Given the description of an element on the screen output the (x, y) to click on. 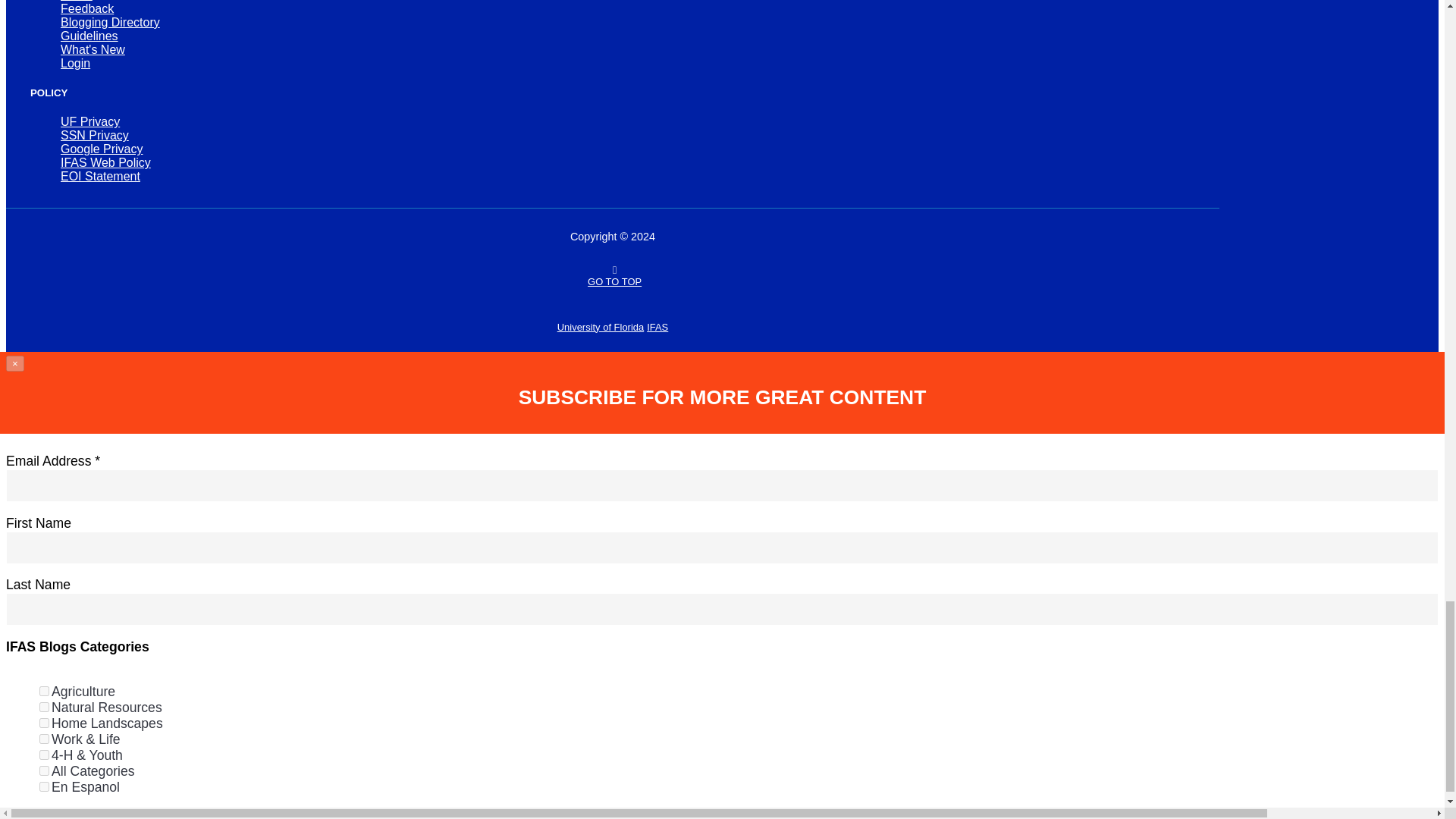
32 (44, 770)
4 (44, 723)
2 (44, 706)
1 (44, 691)
16 (44, 755)
64 (44, 786)
8 (44, 738)
